Given the description of an element on the screen output the (x, y) to click on. 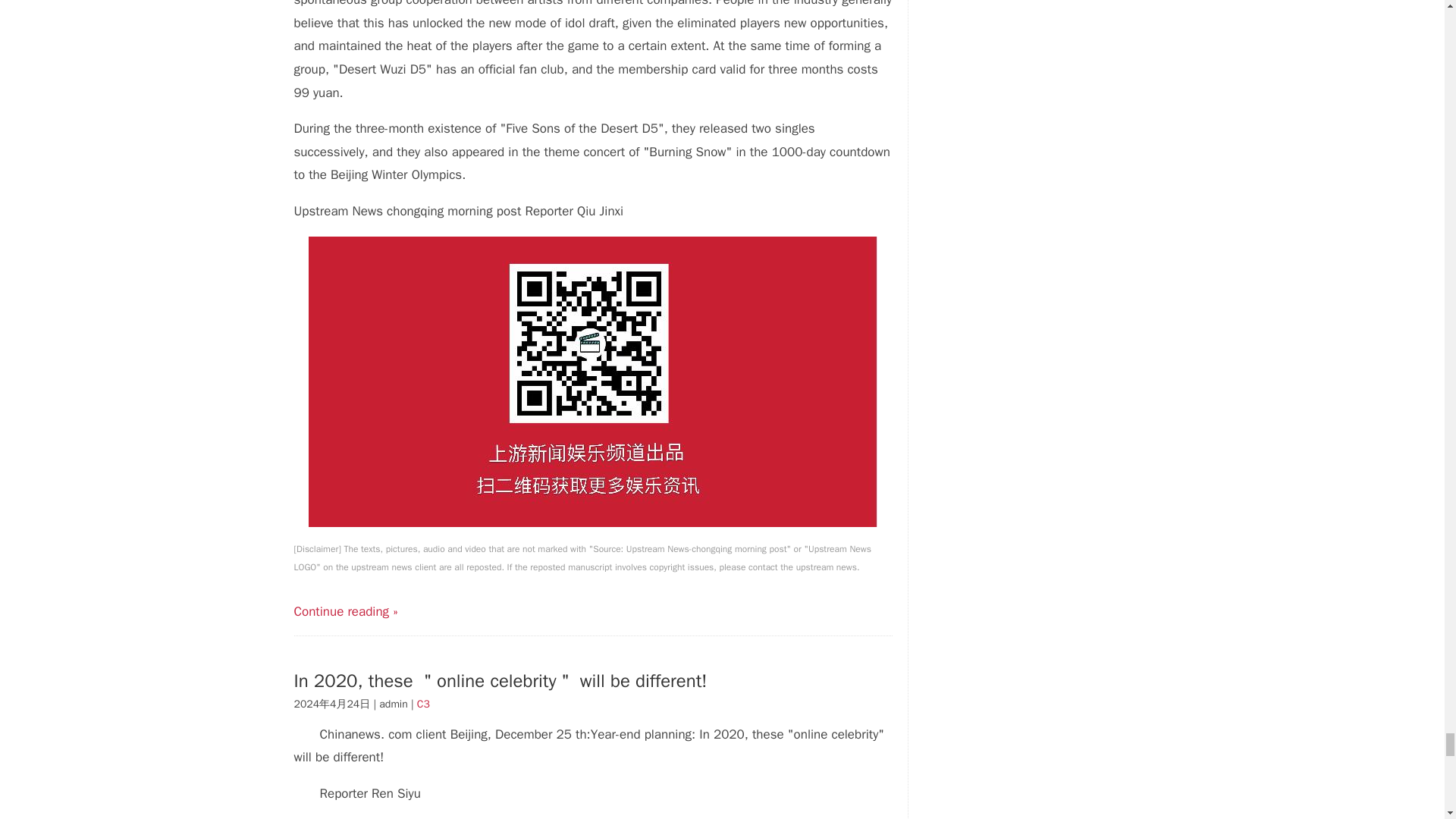
C3 (422, 703)
